Given the description of an element on the screen output the (x, y) to click on. 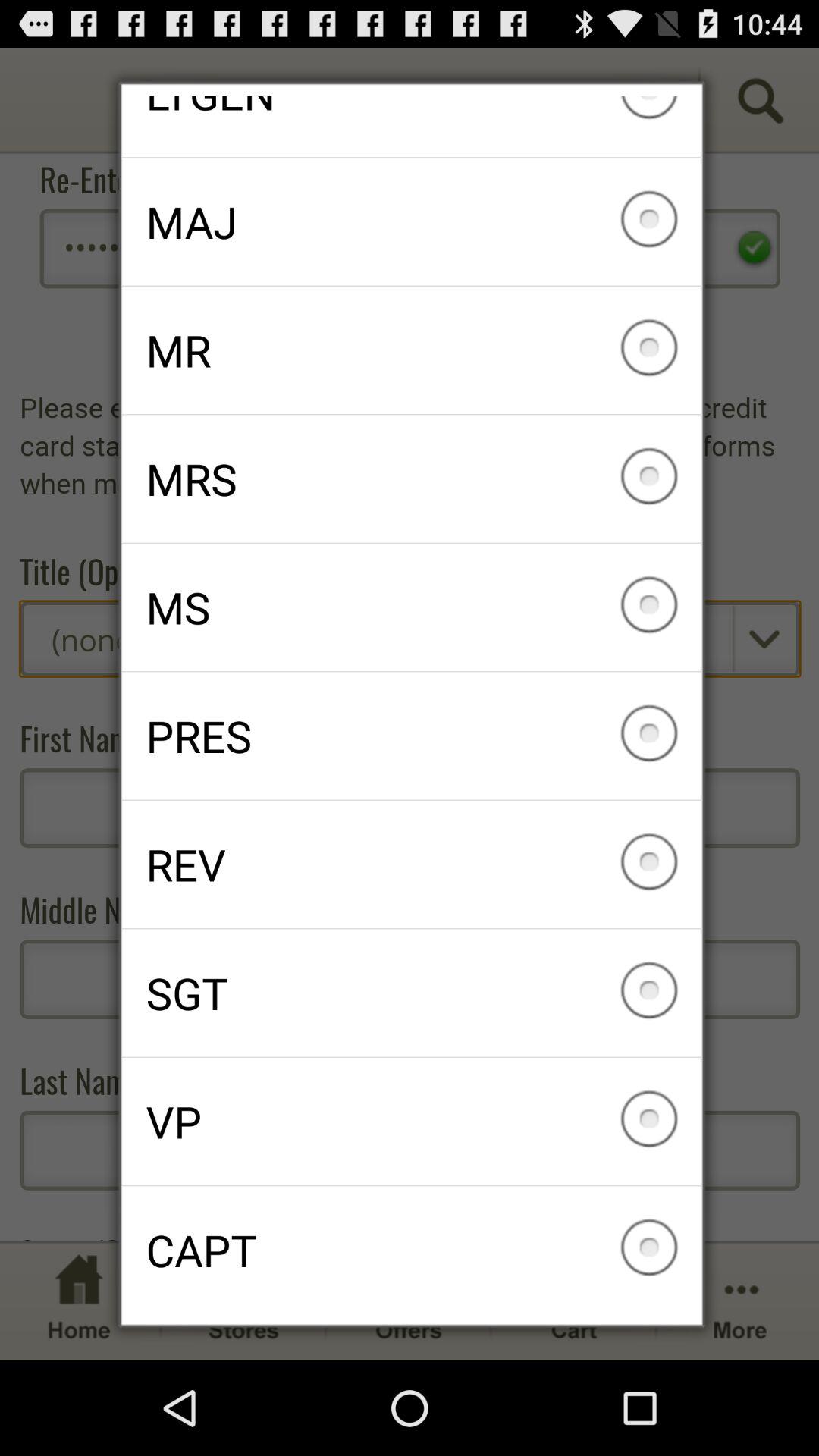
turn on mr (411, 350)
